Given the description of an element on the screen output the (x, y) to click on. 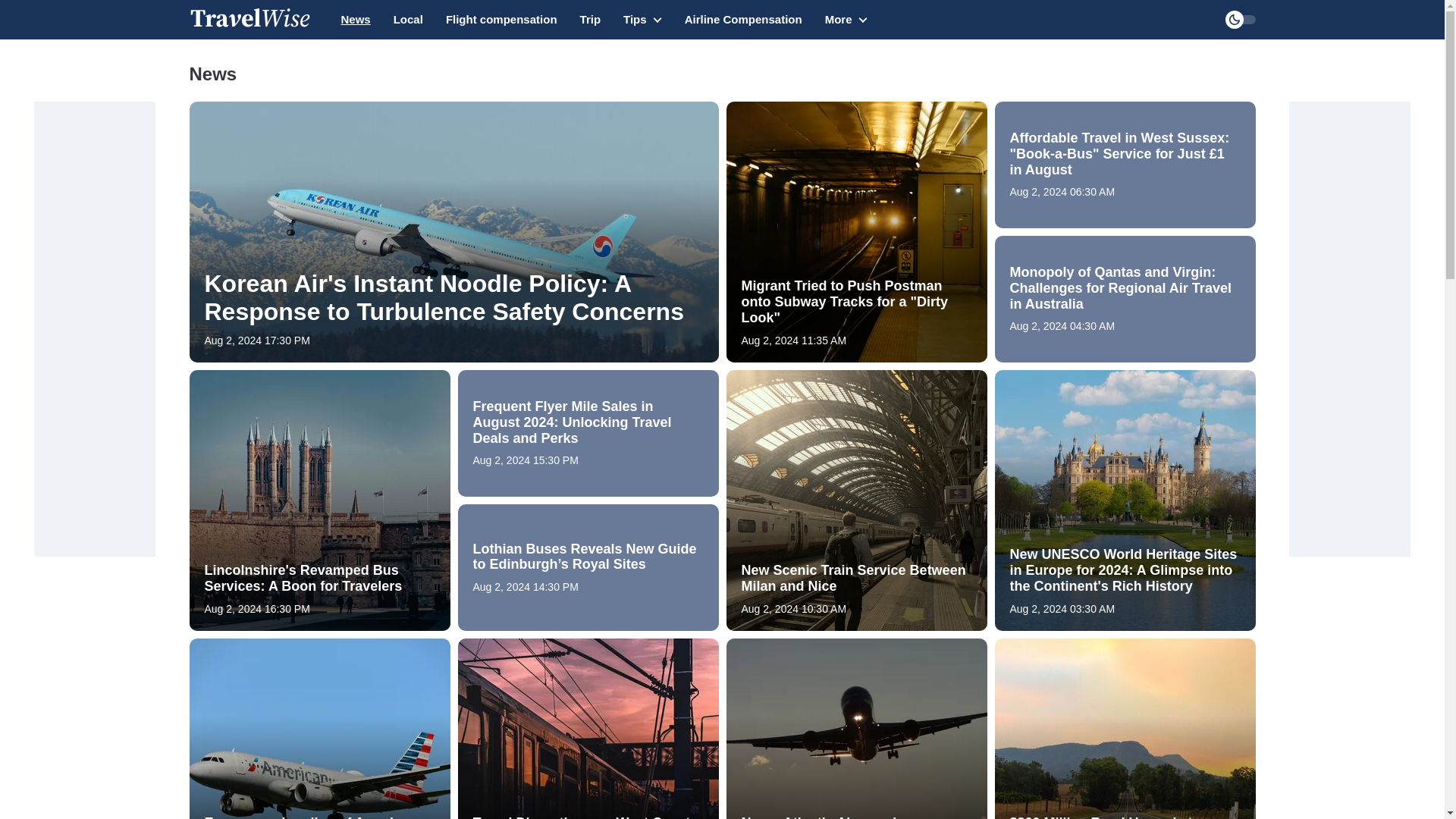
News (355, 19)
Local (408, 19)
Airline Compensation (743, 19)
Flight compensation (501, 19)
Tips (642, 27)
Trip (590, 19)
